Given the description of an element on the screen output the (x, y) to click on. 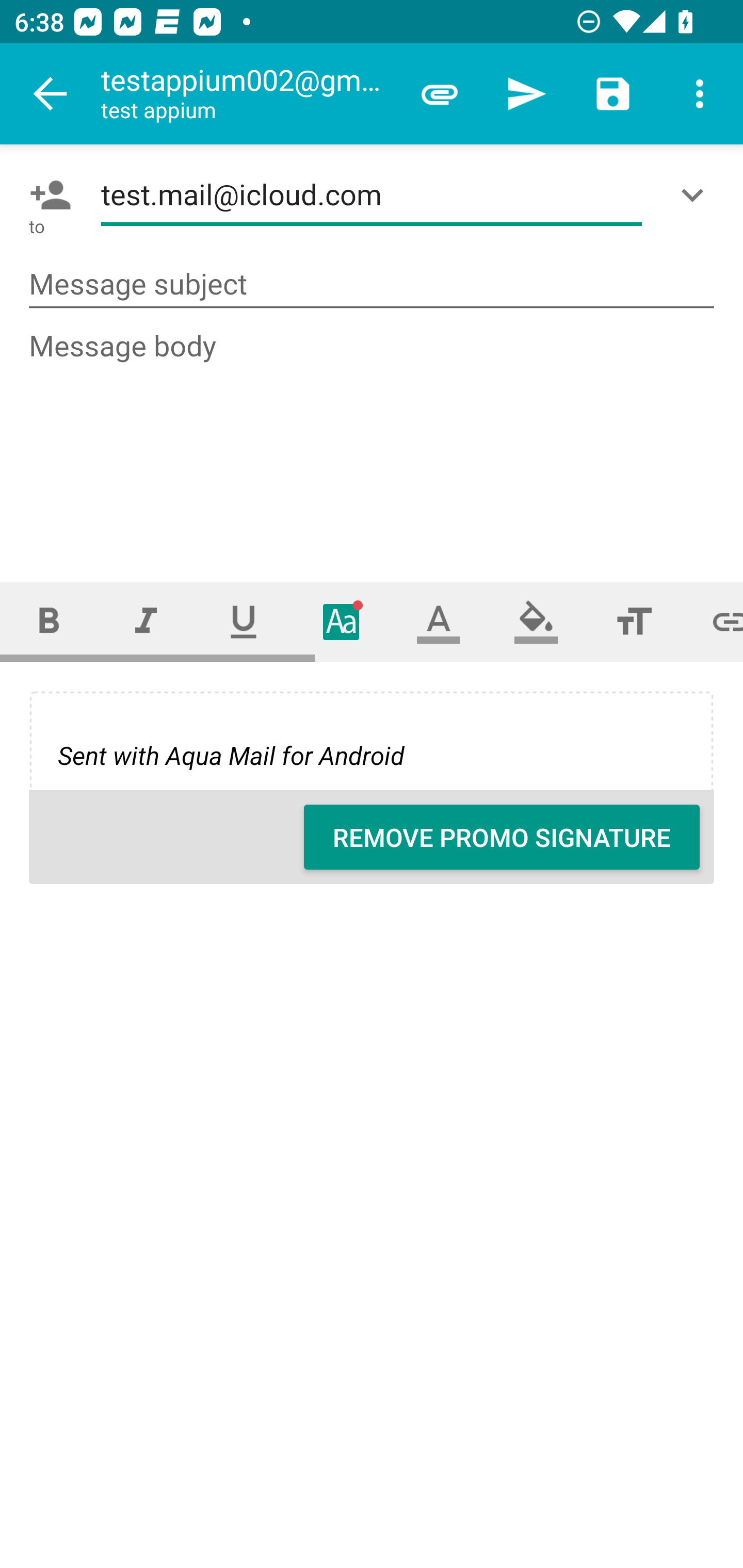
Navigate up (50, 93)
testappium002@gmail.com test appium (248, 93)
Attach (439, 93)
Send (525, 93)
Save (612, 93)
More options (699, 93)
Pick contact: To (46, 195)
Show/Add CC/BCC (696, 195)
test.mail@icloud.com (371, 195)
Message subject (371, 284)
Message body (372, 438)
Bold (48, 621)
Italic (145, 621)
Underline (243, 621)
Typeface (font) (341, 621)
Text color (438, 621)
Fill color (536, 621)
Font size (633, 621)
REMOVE PROMO SIGNATURE (501, 837)
